Given the description of an element on the screen output the (x, y) to click on. 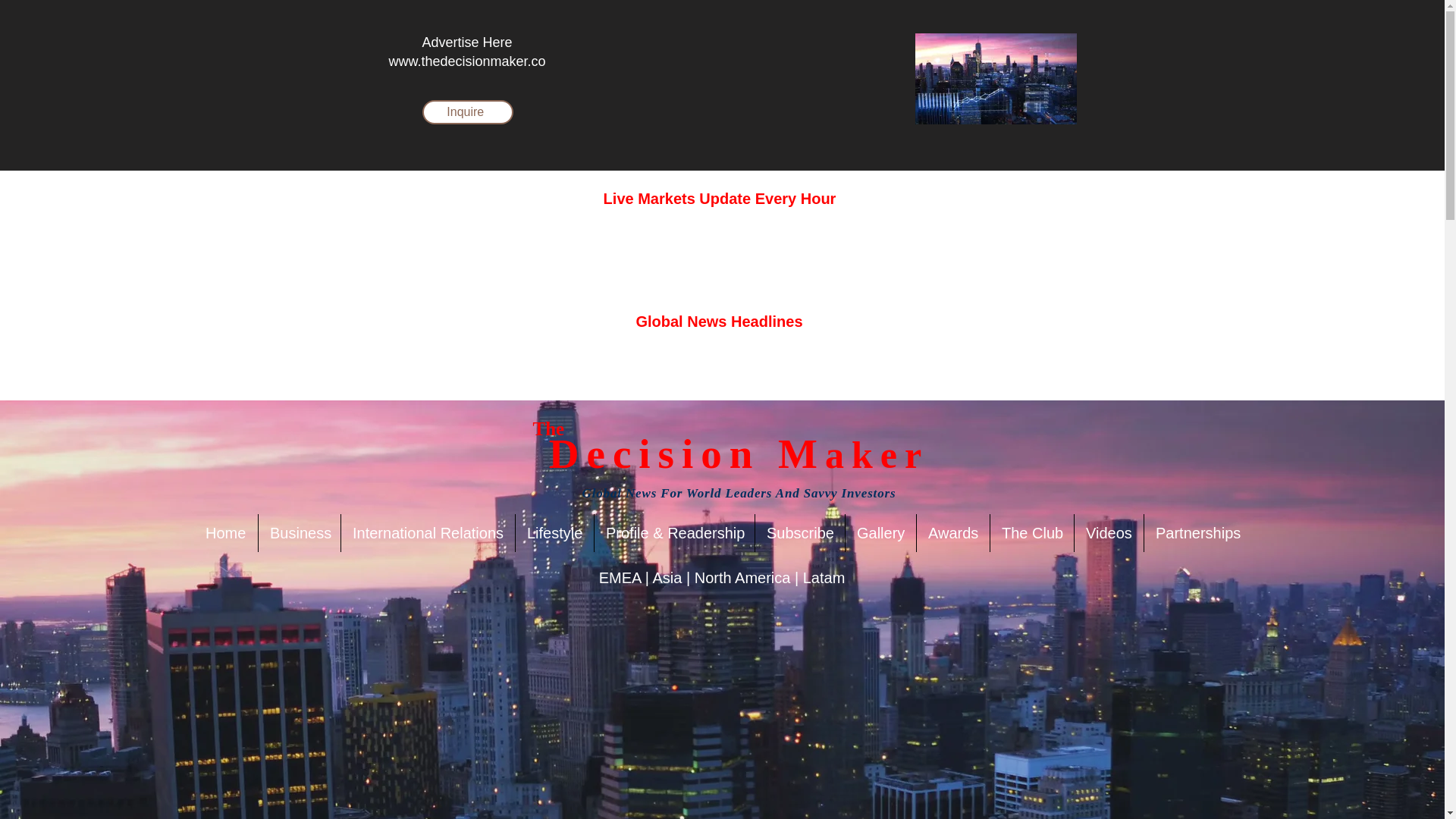
Awards (953, 533)
Videos (1108, 533)
Subscribe (799, 533)
Home (225, 533)
www.thedecisionmaker.co (466, 61)
Business (299, 533)
Inquire (467, 111)
International Relations (427, 533)
Gallery (880, 533)
Lifestyle (554, 533)
The Club (1032, 533)
